Given the description of an element on the screen output the (x, y) to click on. 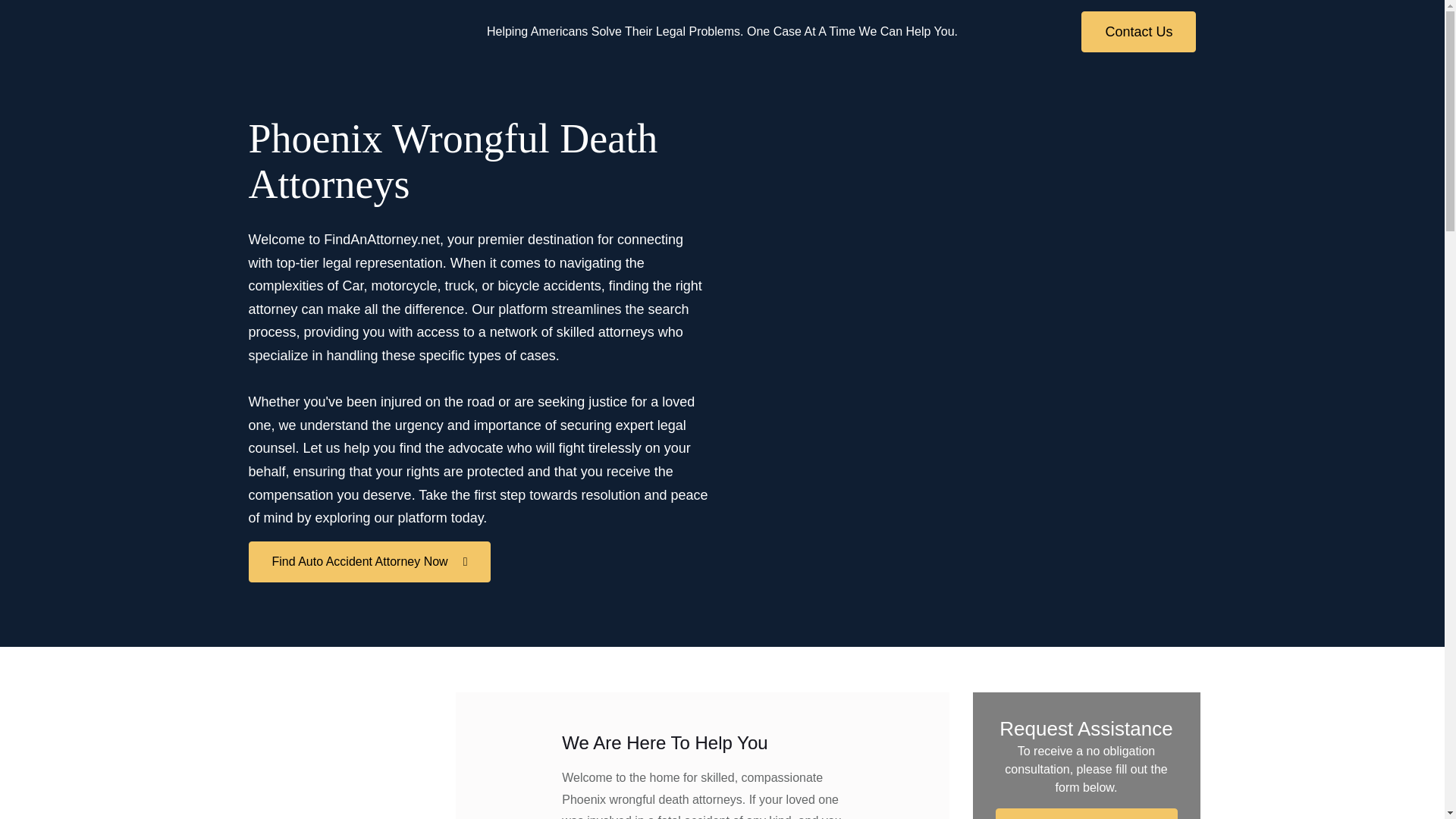
Contact Us (1138, 31)
Find Auto Accident Attorney Now (1085, 813)
Find Auto Accident Attorney Now (370, 561)
